Given the description of an element on the screen output the (x, y) to click on. 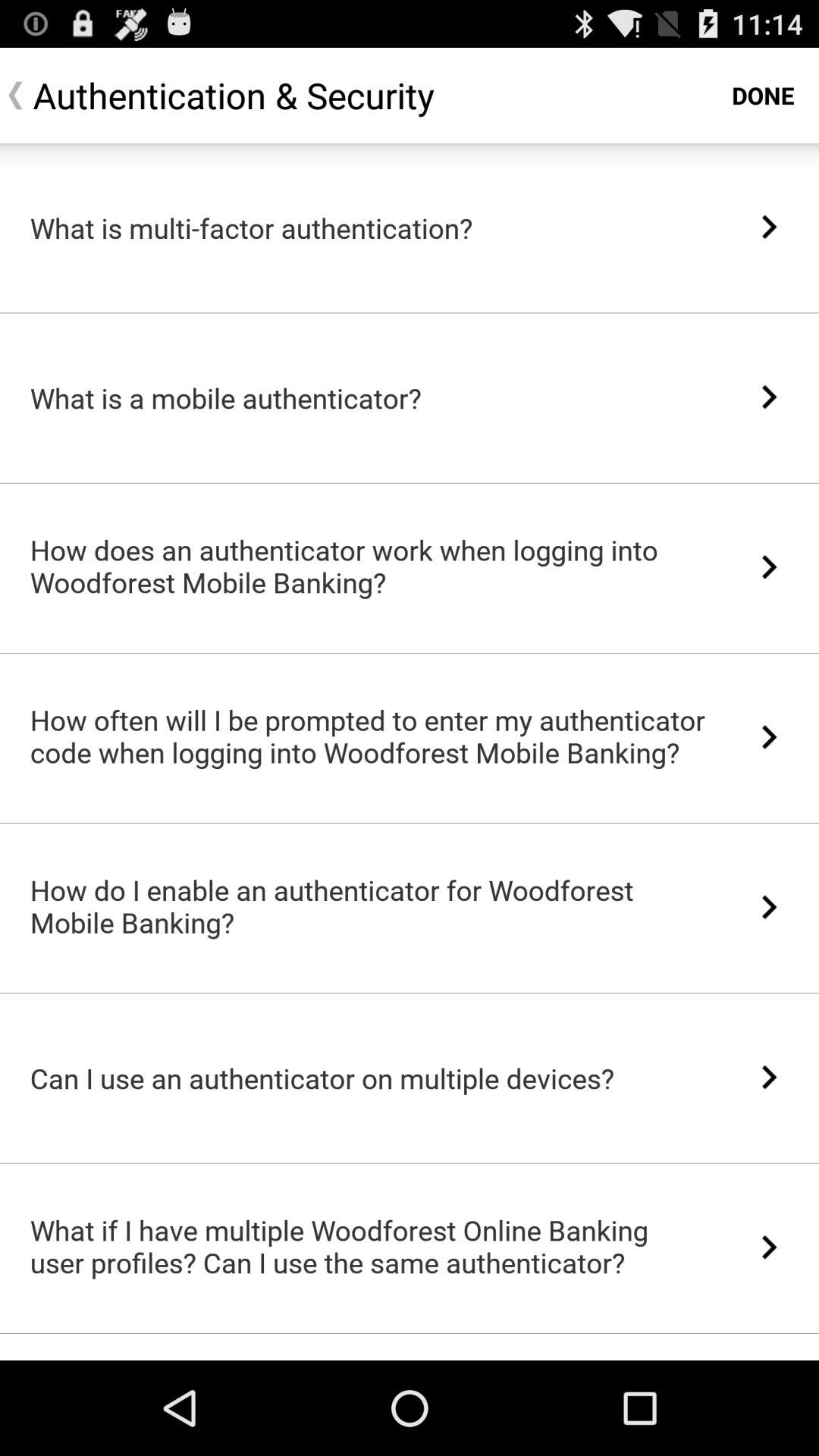
turn on the item below the how do i (409, 993)
